Given the description of an element on the screen output the (x, y) to click on. 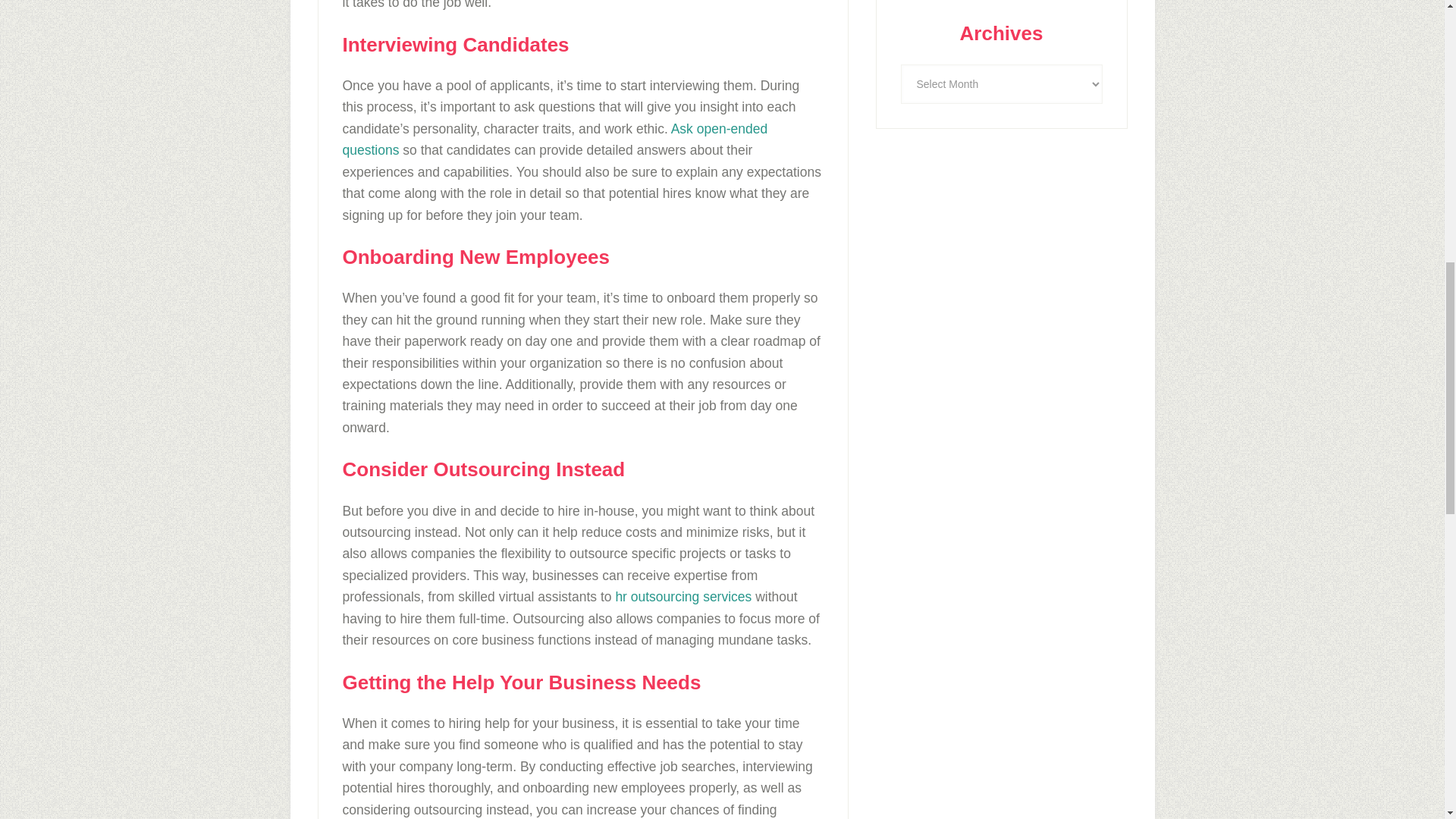
hr outsourcing services (682, 596)
Ask open-ended questions (555, 139)
